Given the description of an element on the screen output the (x, y) to click on. 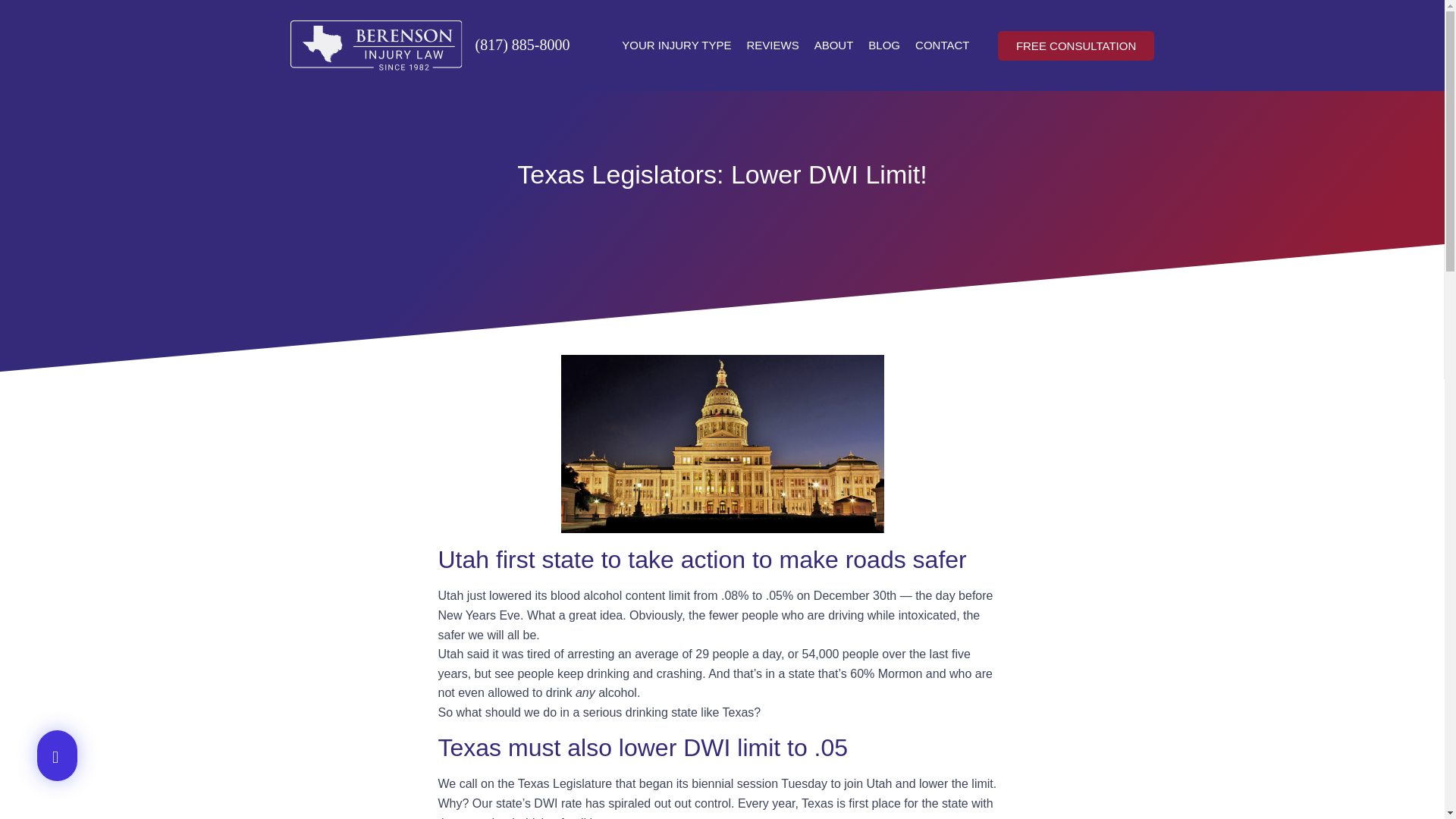
YOUR INJURY TYPE (676, 45)
